Given the description of an element on the screen output the (x, y) to click on. 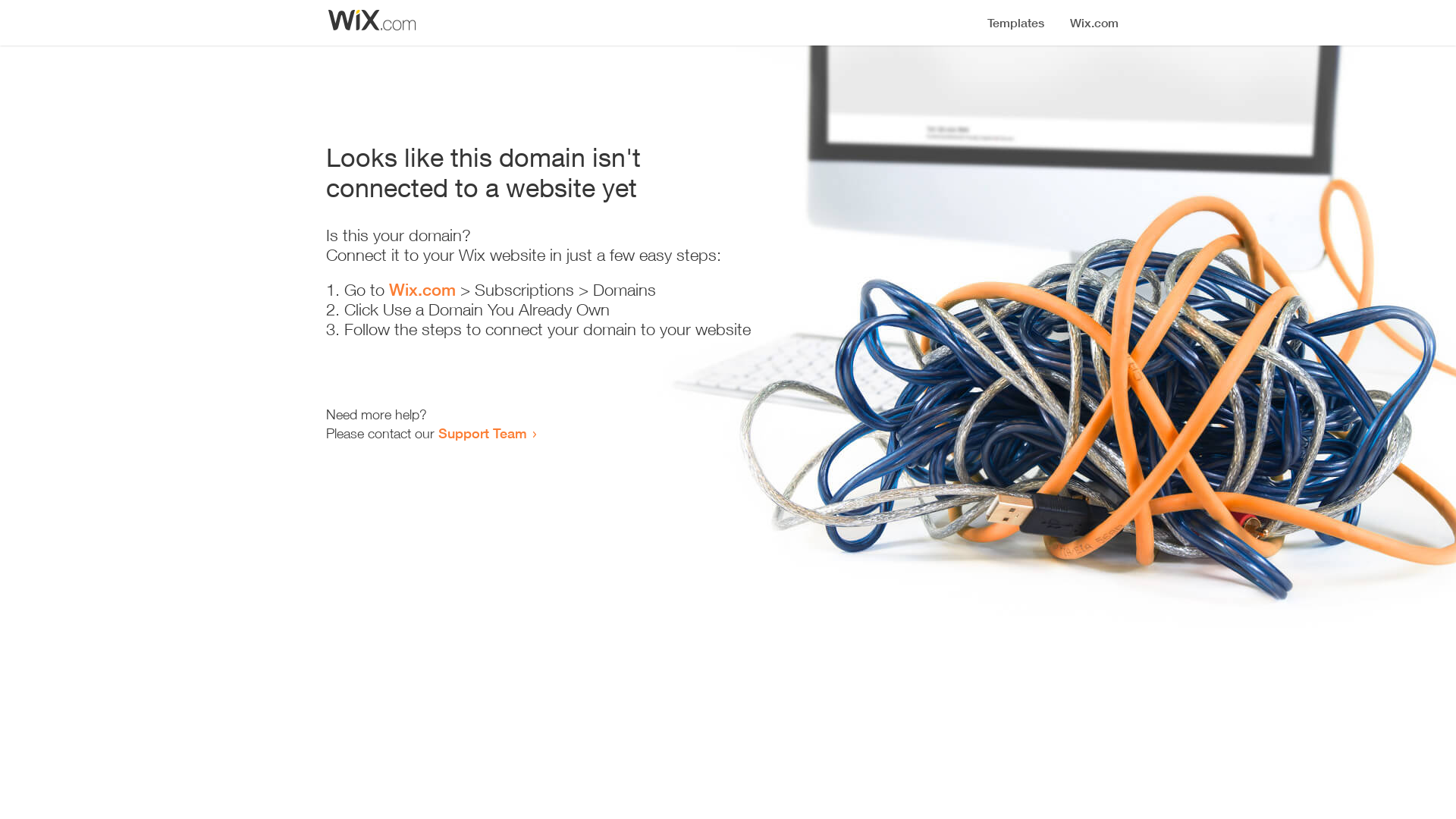
Wix.com Element type: text (422, 289)
Support Team Element type: text (482, 432)
